Given the description of an element on the screen output the (x, y) to click on. 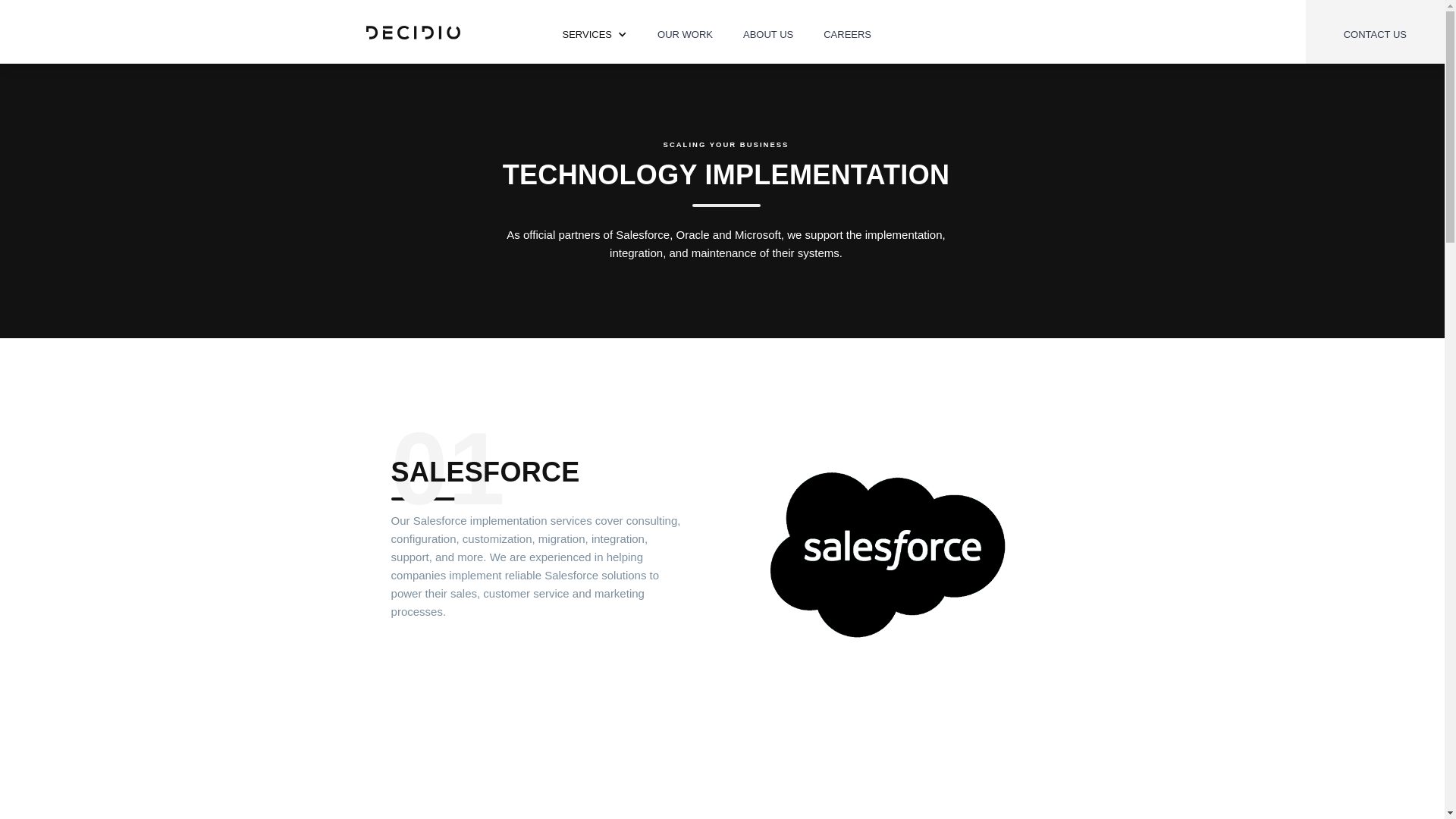
CONTACT US Element type: text (1374, 31)
OUR WORK Element type: text (685, 30)
ABOUT US Element type: text (768, 30)
CAREERS Element type: text (847, 30)
